Given the description of an element on the screen output the (x, y) to click on. 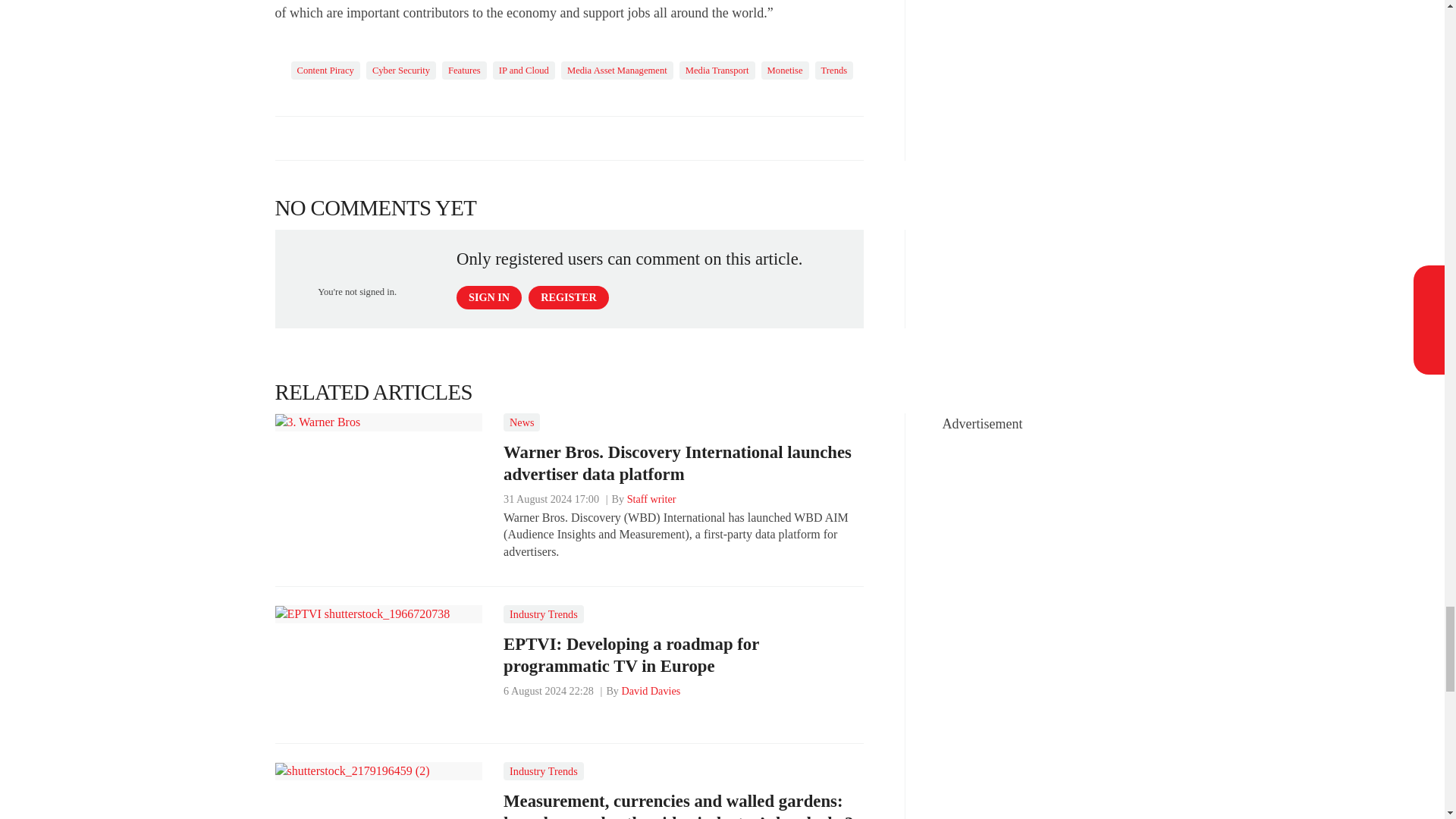
No comments (840, 146)
Share this on Linked in (352, 137)
Share this on Twitter (320, 137)
Share this on Facebook (288, 137)
Email this article (386, 137)
